Given the description of an element on the screen output the (x, y) to click on. 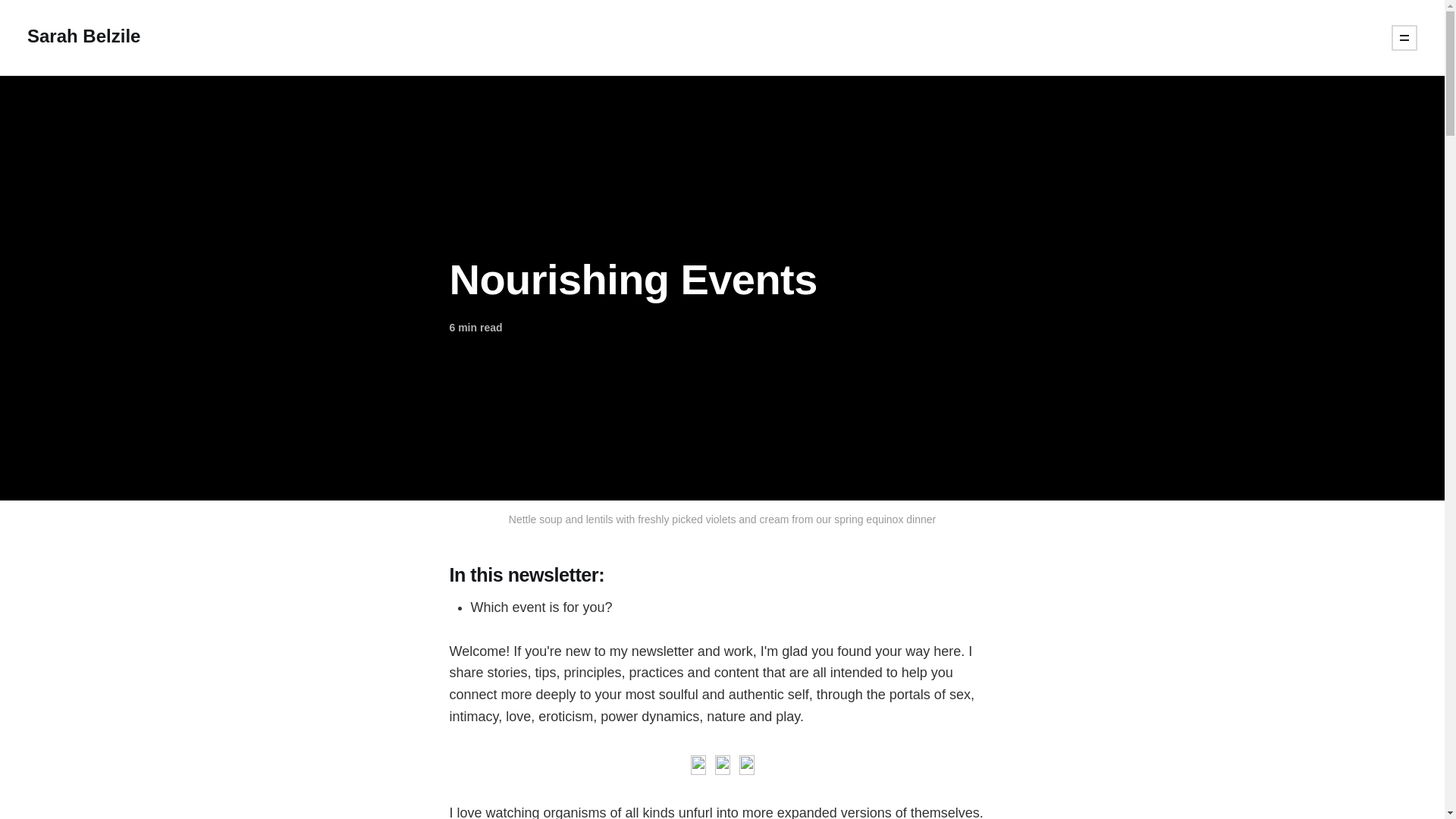
Sarah Belzile (83, 37)
